Given the description of an element on the screen output the (x, y) to click on. 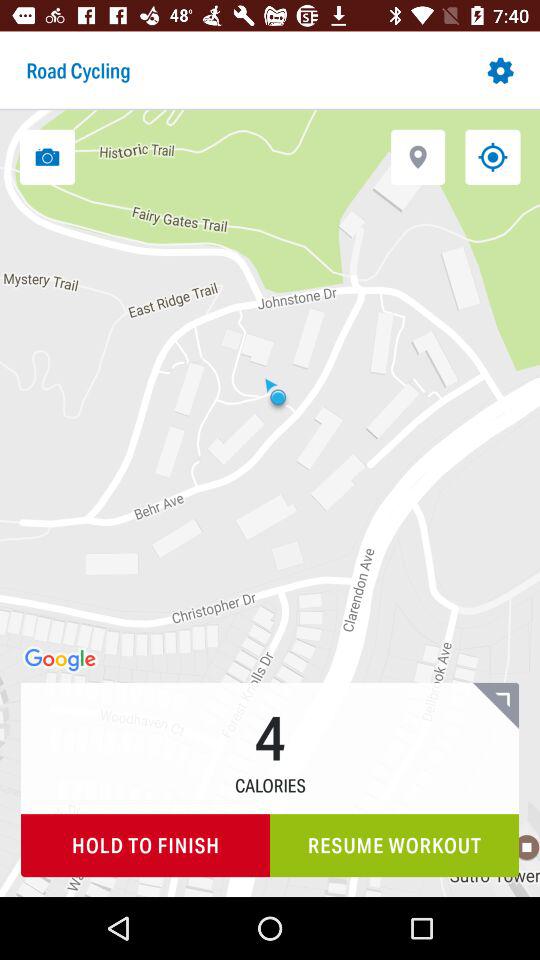
press icon below the calories item (394, 845)
